Given the description of an element on the screen output the (x, y) to click on. 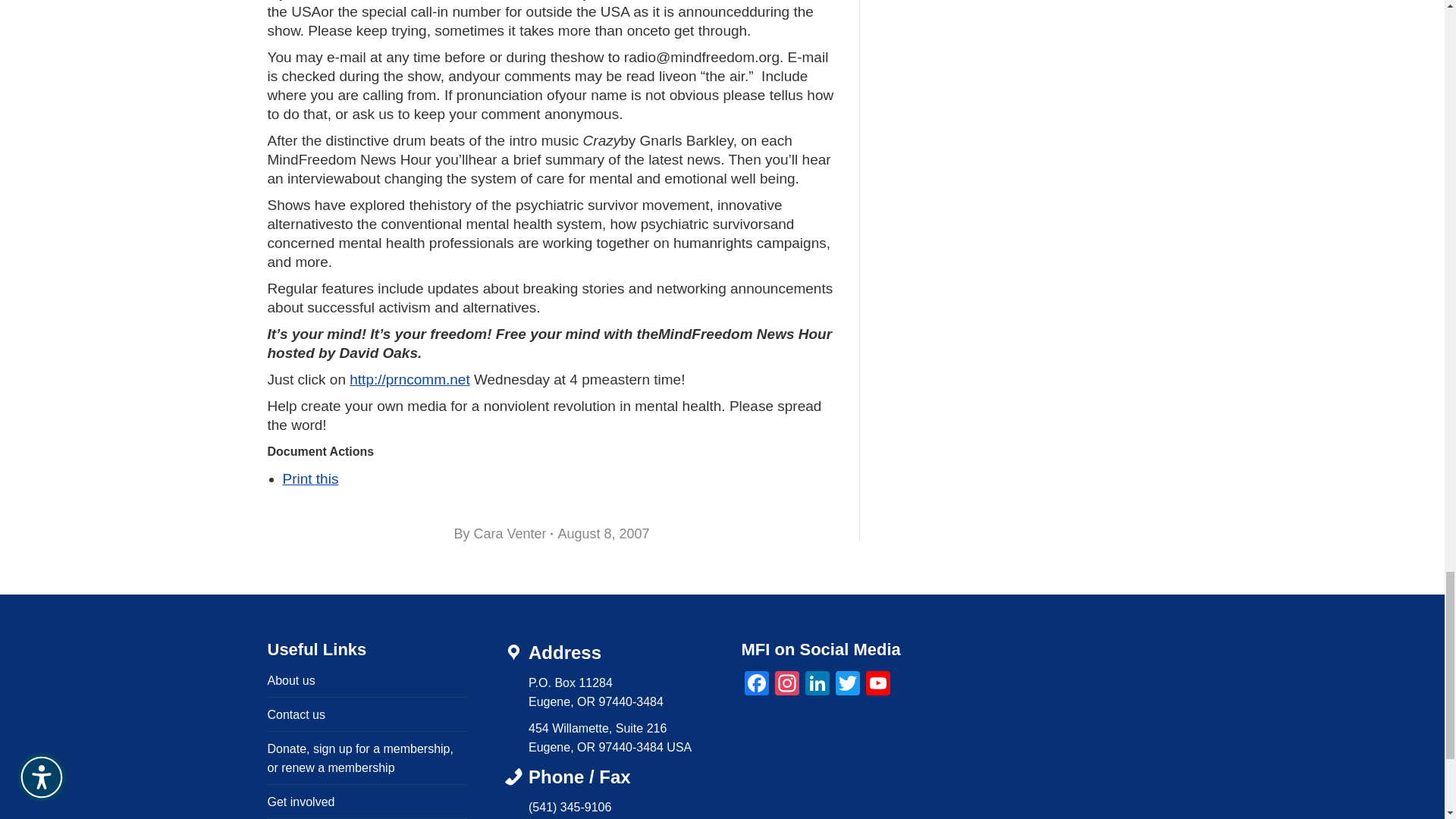
7:32 pm (603, 533)
View all posts by Cara Venter (502, 533)
